Given the description of an element on the screen output the (x, y) to click on. 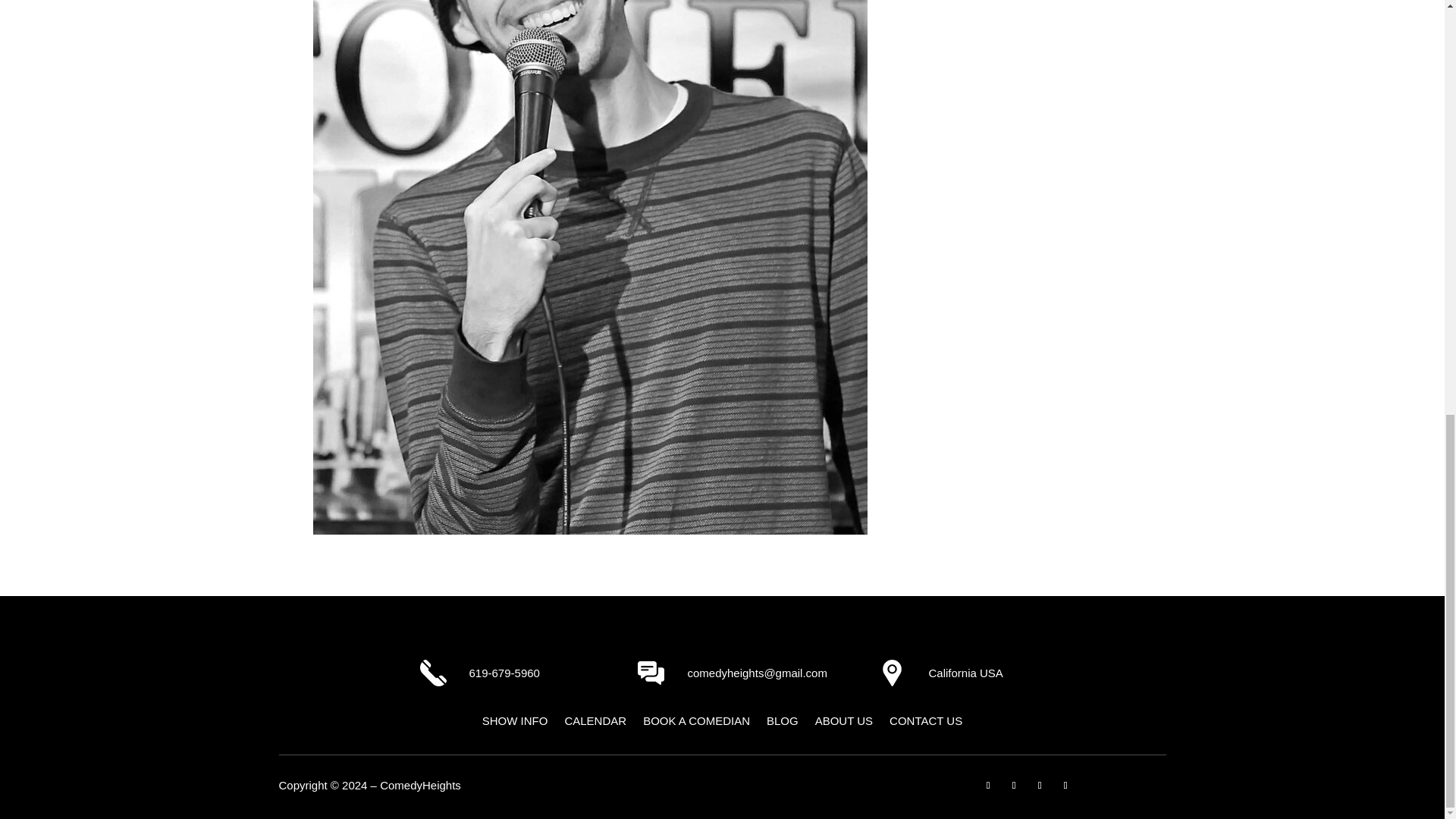
Follow on Facebook (987, 785)
California USA (965, 672)
Follow on Youtube (1039, 785)
SHOW INFO (514, 723)
CONTACT US (925, 723)
Follow on Instagram (1013, 785)
BLOG (782, 723)
Follow on X (1065, 785)
ABOUT US (843, 723)
CALENDAR (595, 723)
